Given the description of an element on the screen output the (x, y) to click on. 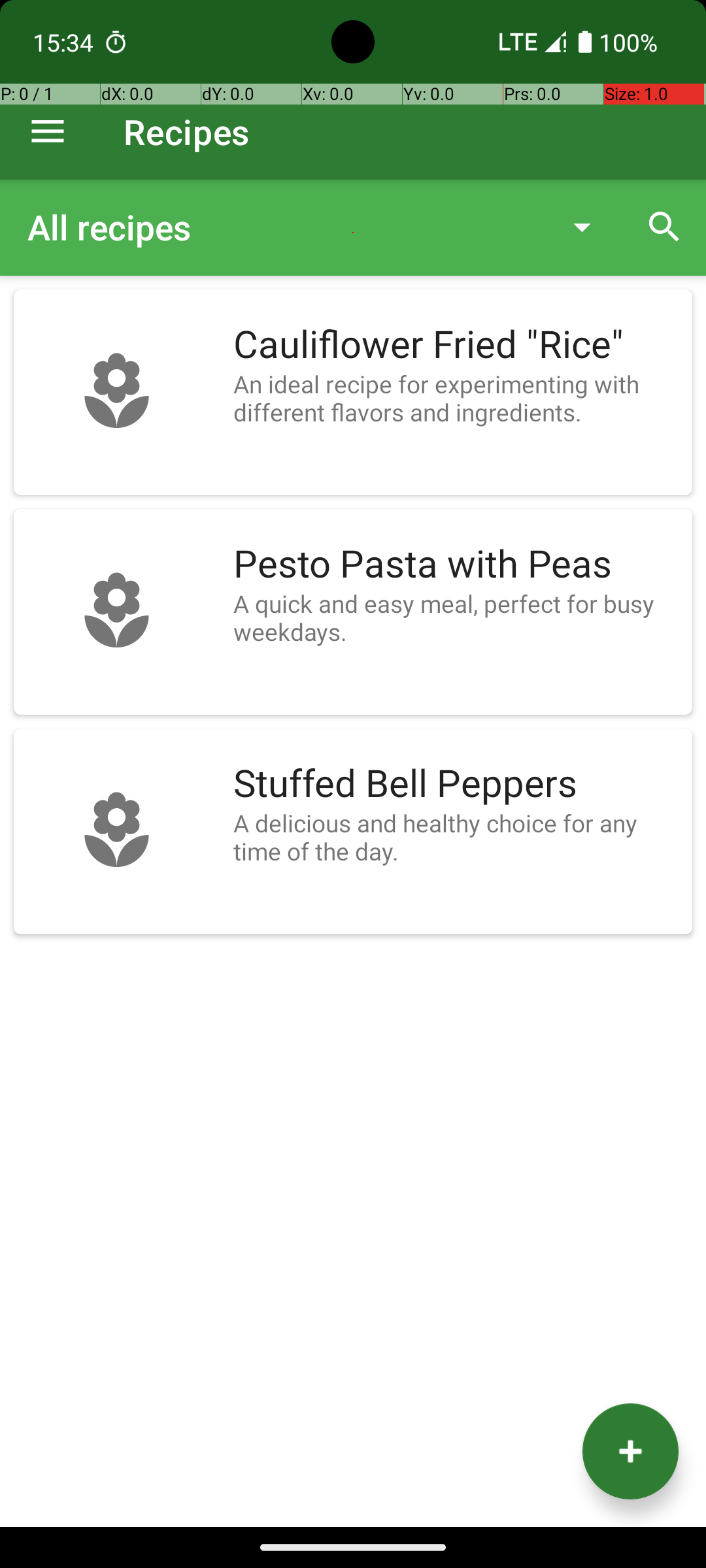
Stuffed Bell Peppers Element type: android.widget.TextView (455, 783)
